Given the description of an element on the screen output the (x, y) to click on. 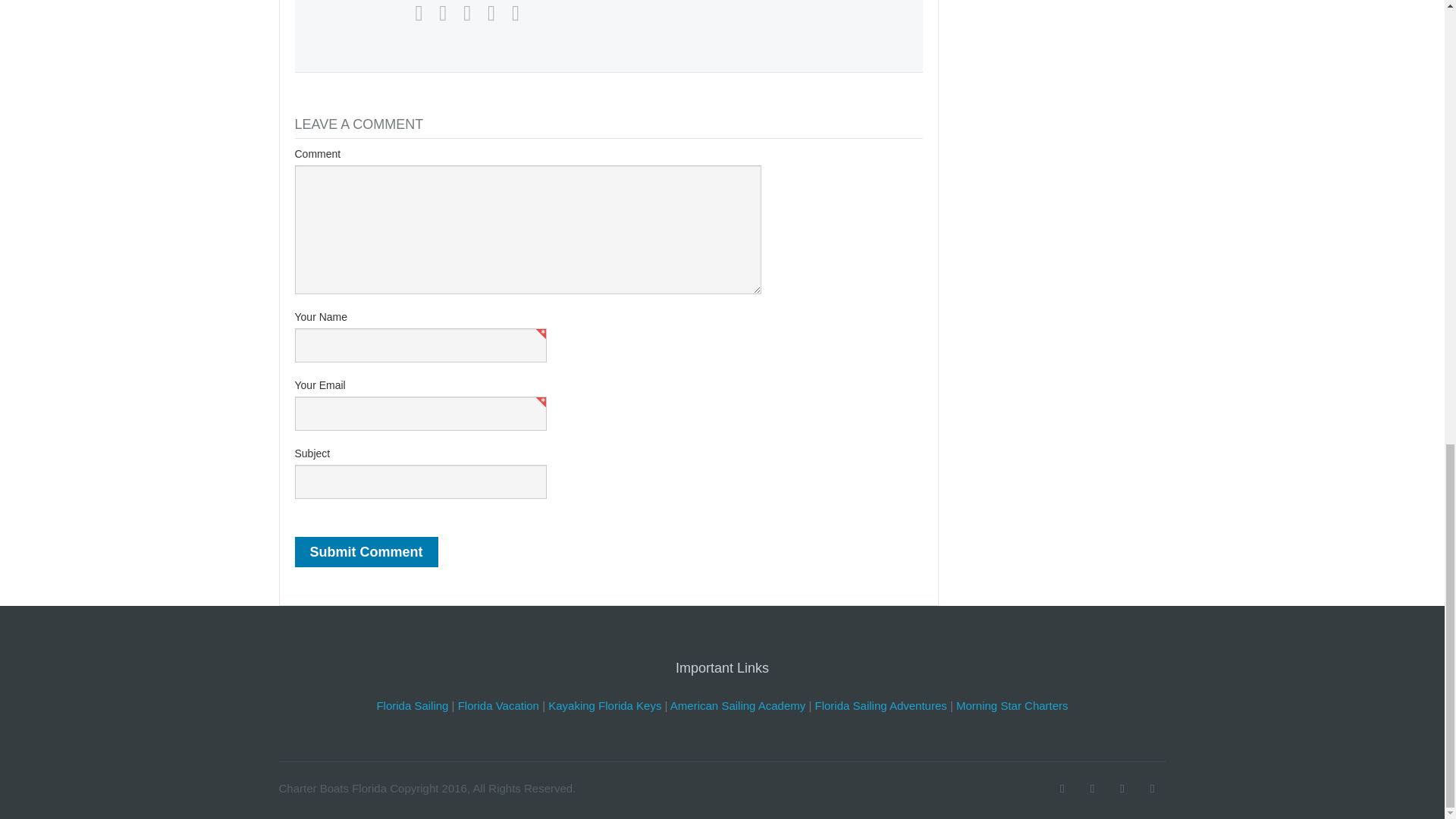
Florida Vacation (498, 705)
Submit Comment (366, 552)
Florida Sailing Adventures (881, 705)
Florida Sailing (411, 705)
Florida Sailing (411, 705)
Florida Vacation (498, 705)
Morning Star Charters (1012, 705)
Kayaking Florida Keys (604, 705)
Submit Comment (366, 552)
American Sailing Academy (737, 705)
Kayaking Florida Keys (604, 705)
Florida Sailing Adventures (881, 705)
Morning Star Charters (1012, 705)
American Sailing Academy (737, 705)
